Given the description of an element on the screen output the (x, y) to click on. 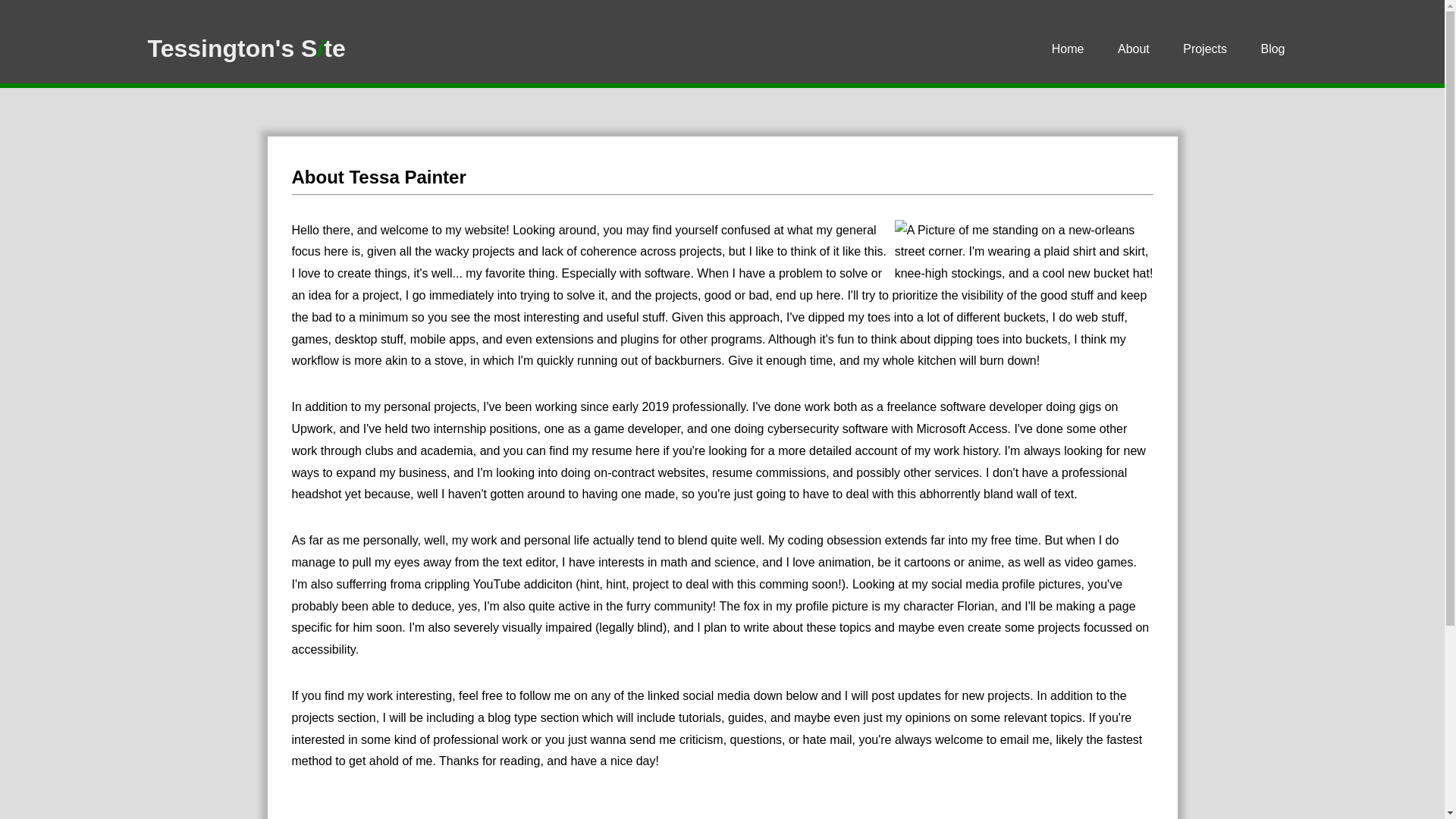
Tessington's Site (246, 48)
Blog (1272, 49)
Home (1067, 49)
Projects (1204, 49)
About (1133, 49)
